Given the description of an element on the screen output the (x, y) to click on. 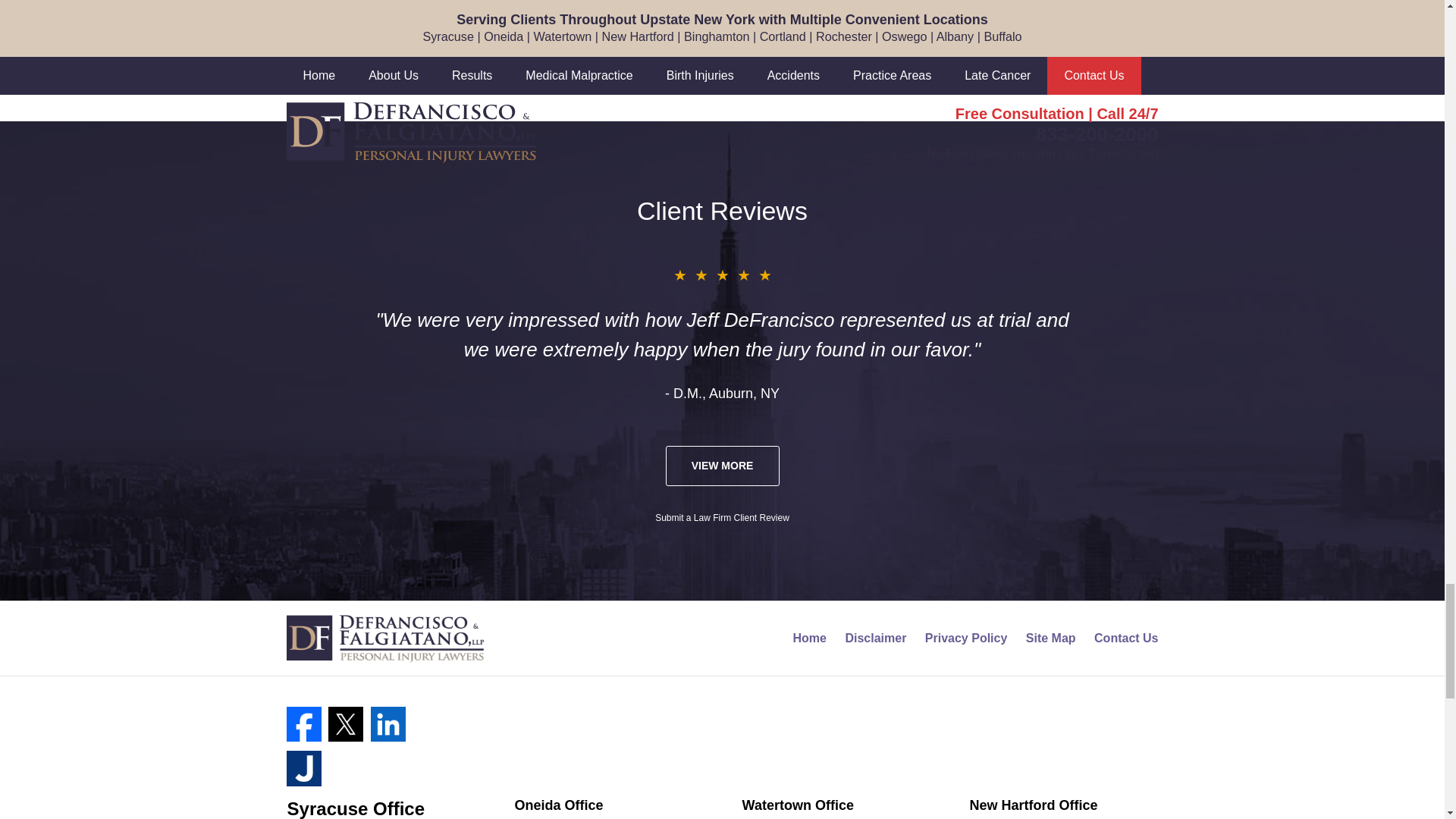
LinkedIn (388, 724)
Justia (303, 768)
Twitter (345, 724)
Facebook (303, 724)
